Given the description of an element on the screen output the (x, y) to click on. 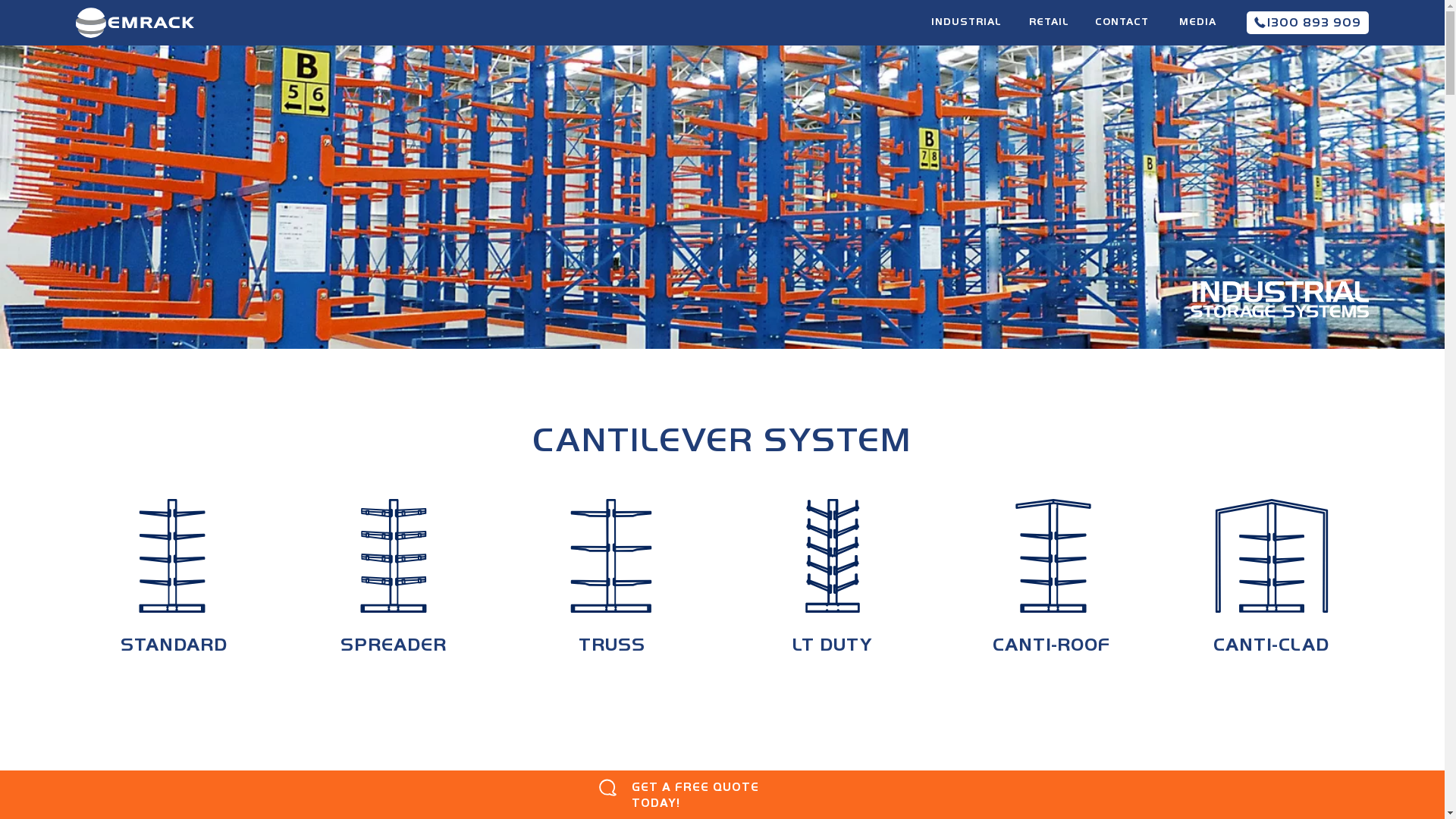
Cantilever Roof System Element type: hover (1053, 555)
Cantilever Truss System Element type: hover (611, 555)
Light Duty Cantilever System Element type: hover (832, 555)
TRUSS Element type: text (612, 587)
CANTI-ROOF Element type: text (1051, 587)
Standard Cantilever System Element type: hover (172, 555)
CANTI-CLAD Element type: text (1270, 587)
RETAIL Element type: text (1048, 26)
Cantilever Spreader System Element type: hover (393, 555)
1300 893 909 Element type: text (1307, 22)
Cantilever Cladding System Element type: hover (1271, 555)
Emrack International Element type: hover (134, 22)
Industrial Storage Systems Element type: hover (1279, 299)
STANDARD Element type: text (173, 587)
Call Us Toll Free Element type: hover (1259, 22)
CONTACT Element type: text (1121, 21)
LT DUTY Element type: text (832, 587)
SPREADER Element type: text (393, 587)
INDUSTRIAL Element type: text (965, 26)
MEDIA Element type: text (1197, 21)
